Given the description of an element on the screen output the (x, y) to click on. 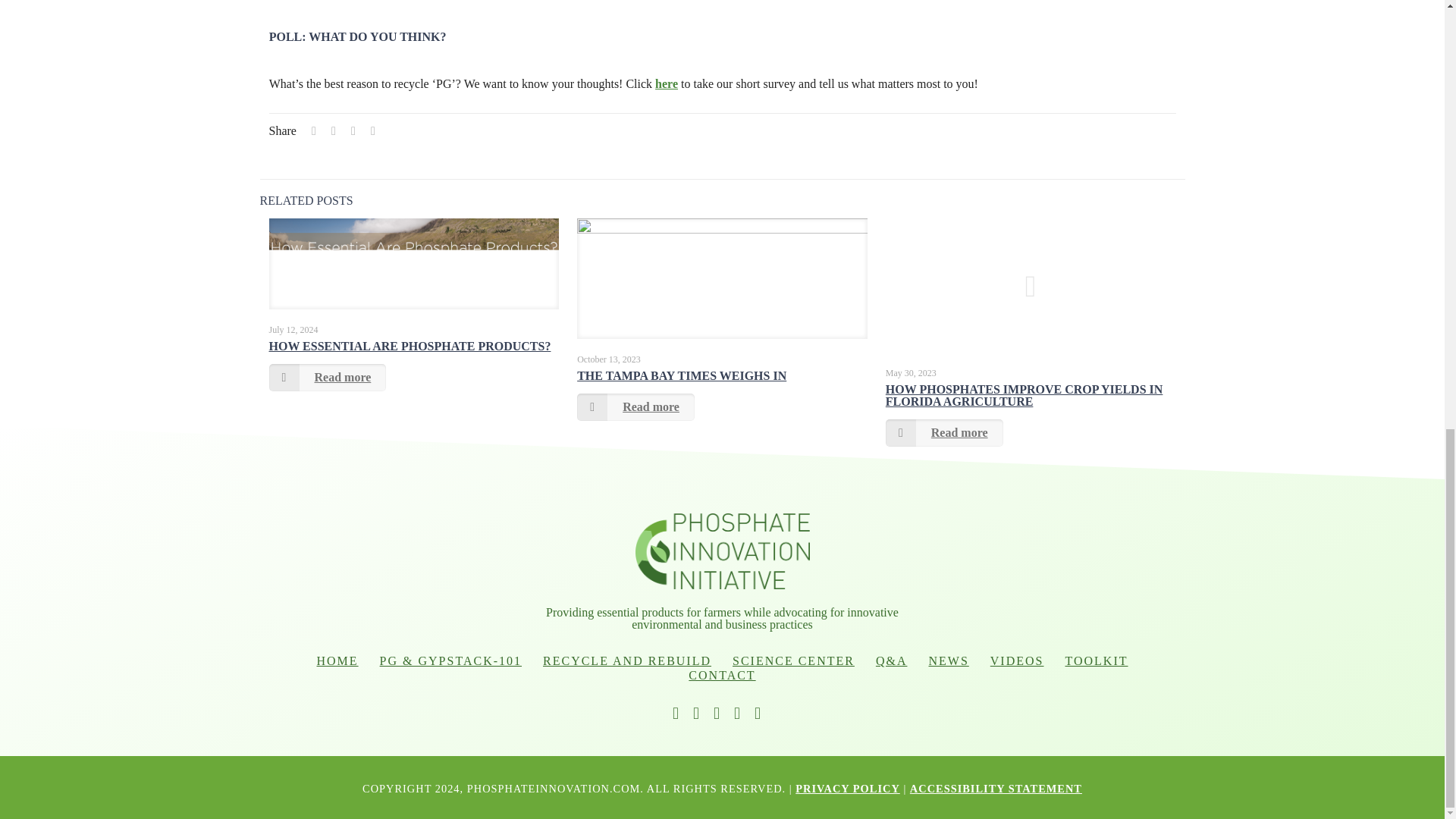
here (666, 83)
HOW PHOSPHATES IMPROVE CROP YIELDS IN FLORIDA AGRICULTURE (1024, 395)
THE TAMPA BAY TIMES WEIGHS IN (681, 375)
HOW ESSENTIAL ARE PHOSPHATE PRODUCTS? (408, 345)
Read more (326, 377)
HOME (337, 660)
Read more (944, 432)
Read more (635, 406)
